Given the description of an element on the screen output the (x, y) to click on. 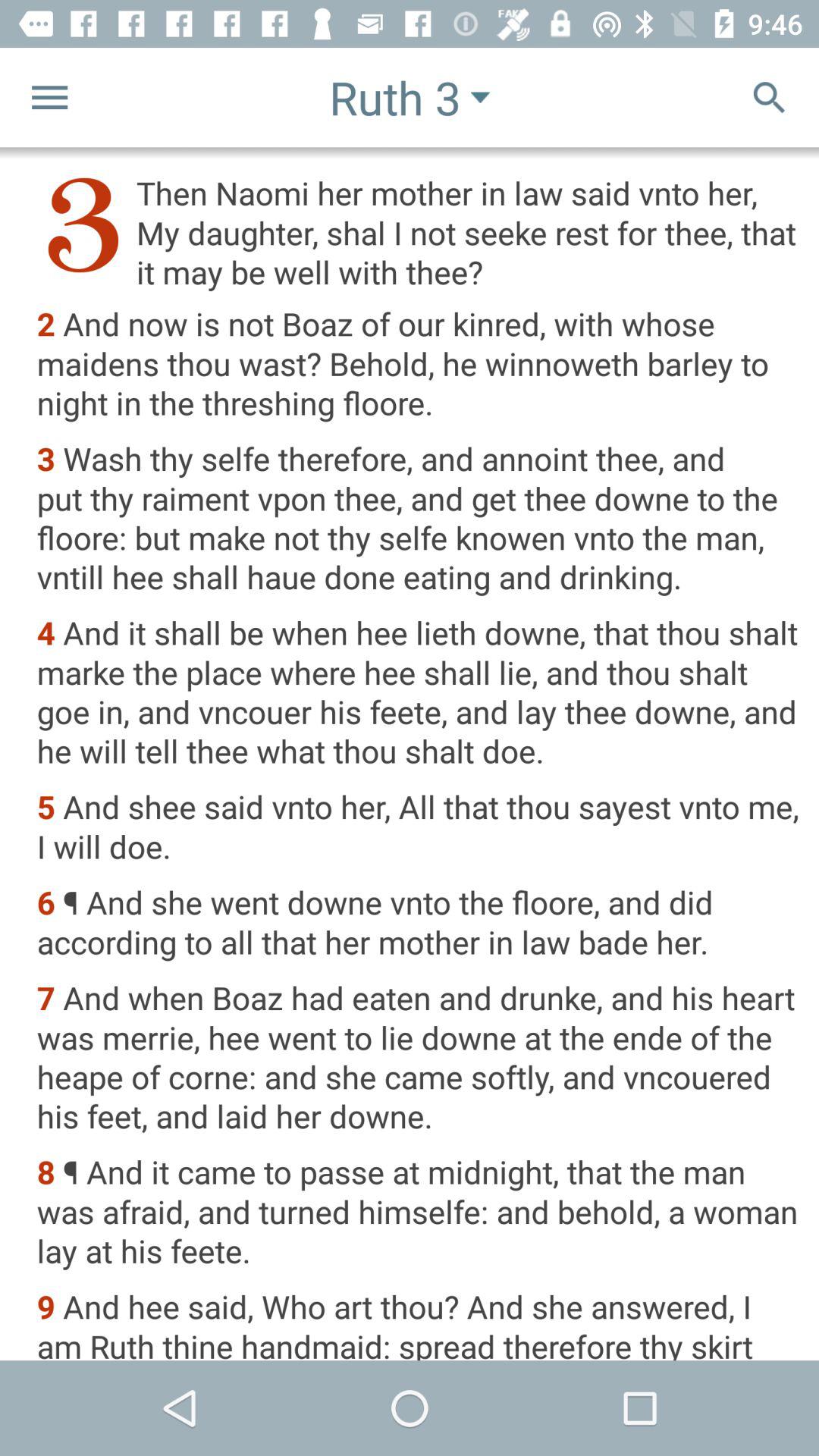
turn off the icon below the then naomi her item (417, 365)
